Given the description of an element on the screen output the (x, y) to click on. 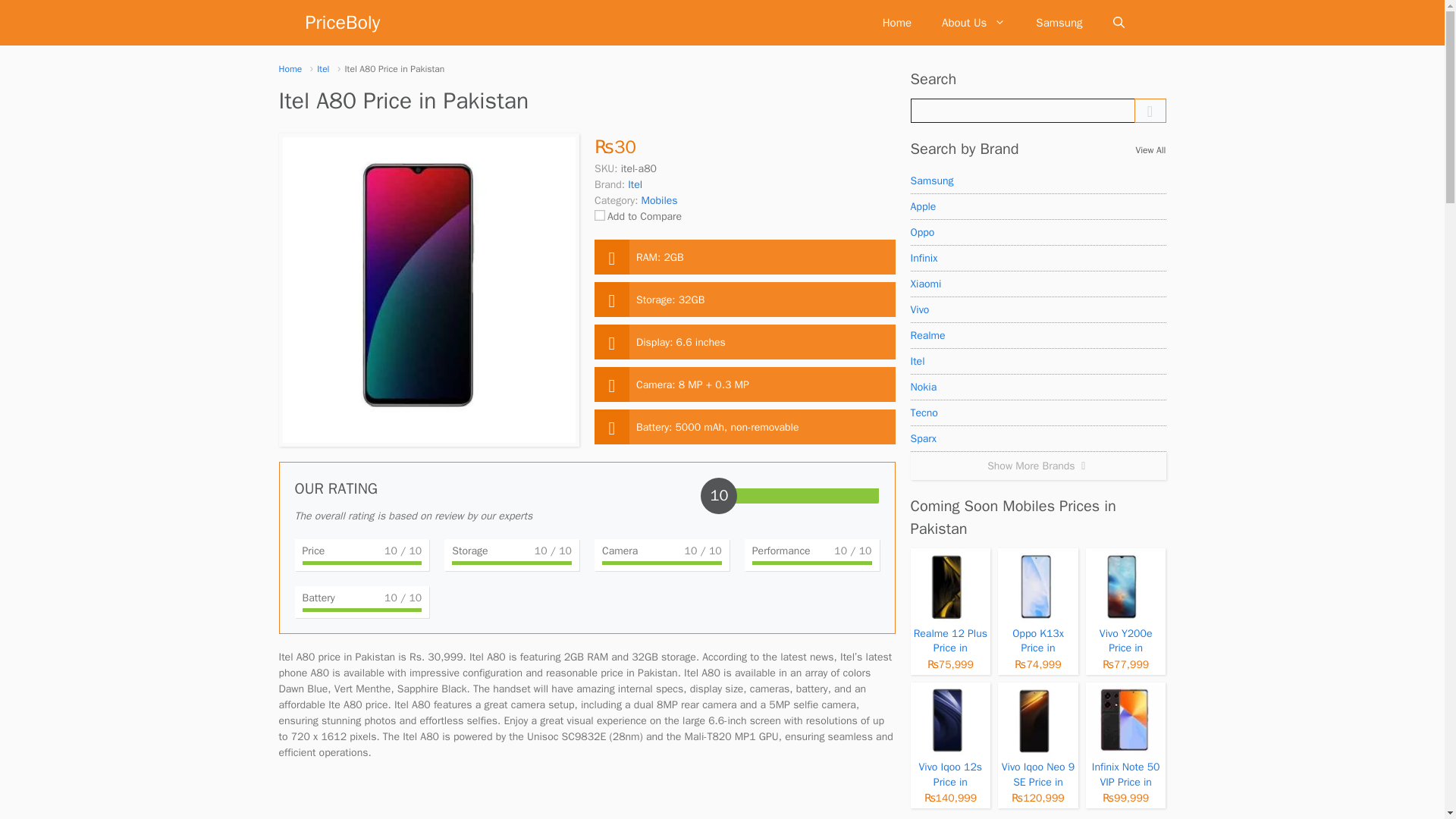
Itel (1038, 361)
Nokia (1038, 387)
Xiaomi (1038, 284)
Realme (1038, 335)
Apple (1038, 207)
Samsung (1058, 22)
View All (1150, 150)
Infinix (1038, 258)
Vivo (1038, 309)
Home (290, 68)
Itel (323, 68)
Oppo (1038, 232)
Samsung (1038, 181)
Mobiles (660, 200)
Itel (634, 184)
